Given the description of an element on the screen output the (x, y) to click on. 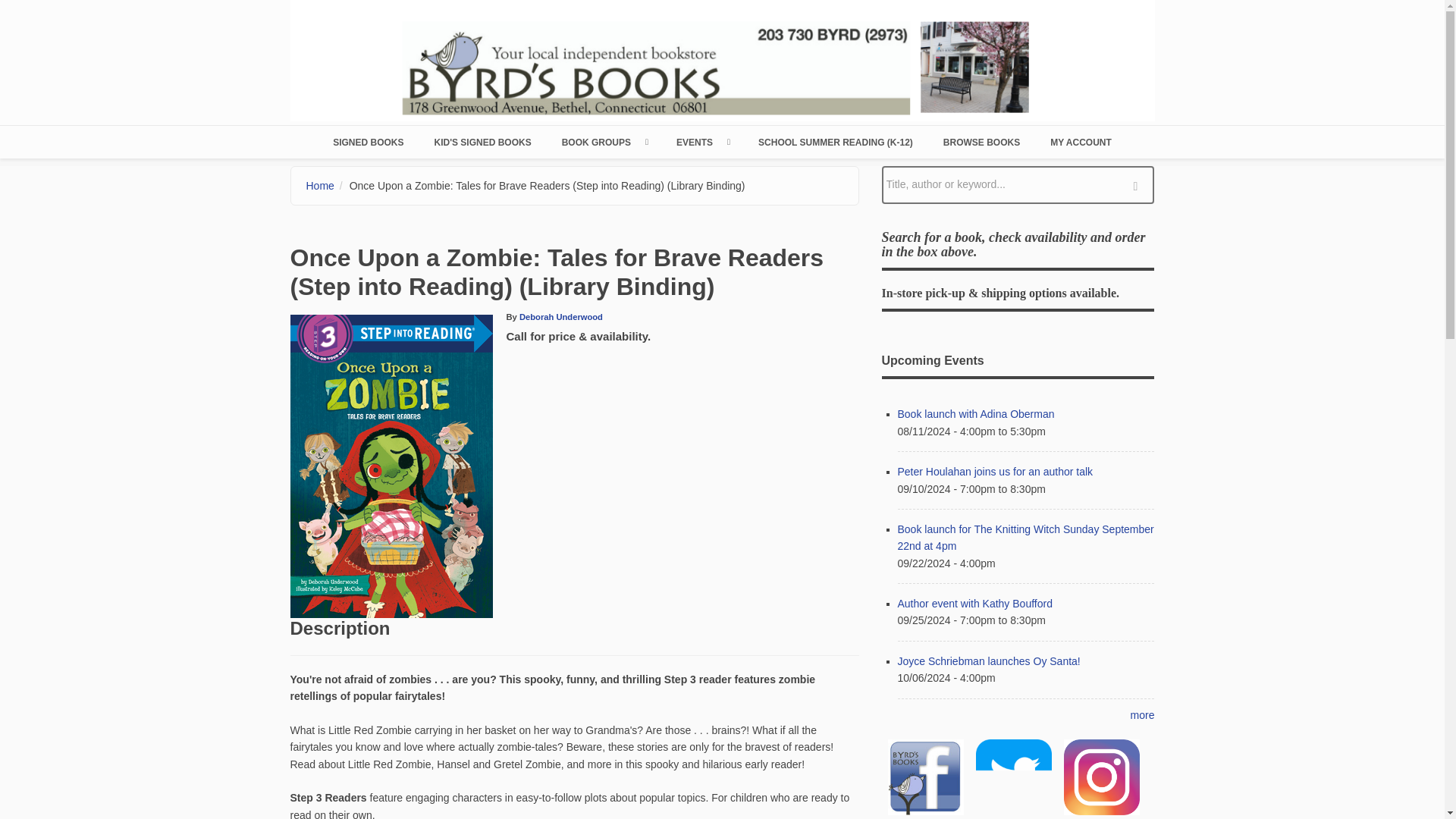
BOOK GROUPS (604, 142)
SIGNED Books (368, 142)
Book launch with Adina Oberman (976, 413)
Home (721, 59)
Author event with Kathy Boufford (975, 603)
Peter Houlahan joins us for an author talk (995, 471)
KID'S SIGNED BOOKS (482, 142)
EVENTS (701, 142)
Deborah Underwood (560, 316)
